Given the description of an element on the screen output the (x, y) to click on. 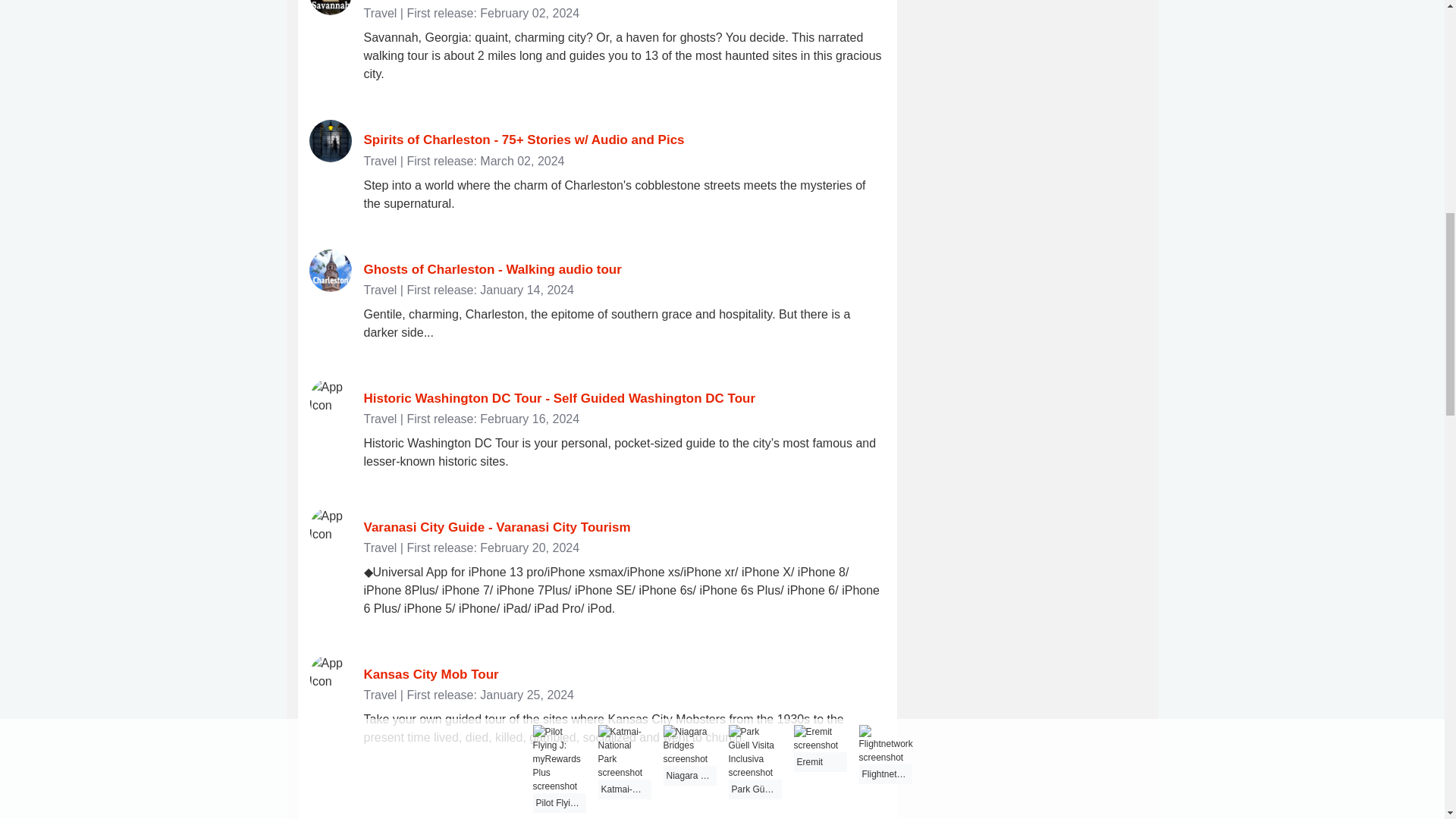
Varanasi City Guide - Varanasi City Tourism (497, 527)
Ghosts of Charleston - Walking audio tour (492, 269)
Kansas City Mob Tour (431, 674)
Historic Washington DC Tour - Self Guided Washington DC Tour (559, 398)
